Given the description of an element on the screen output the (x, y) to click on. 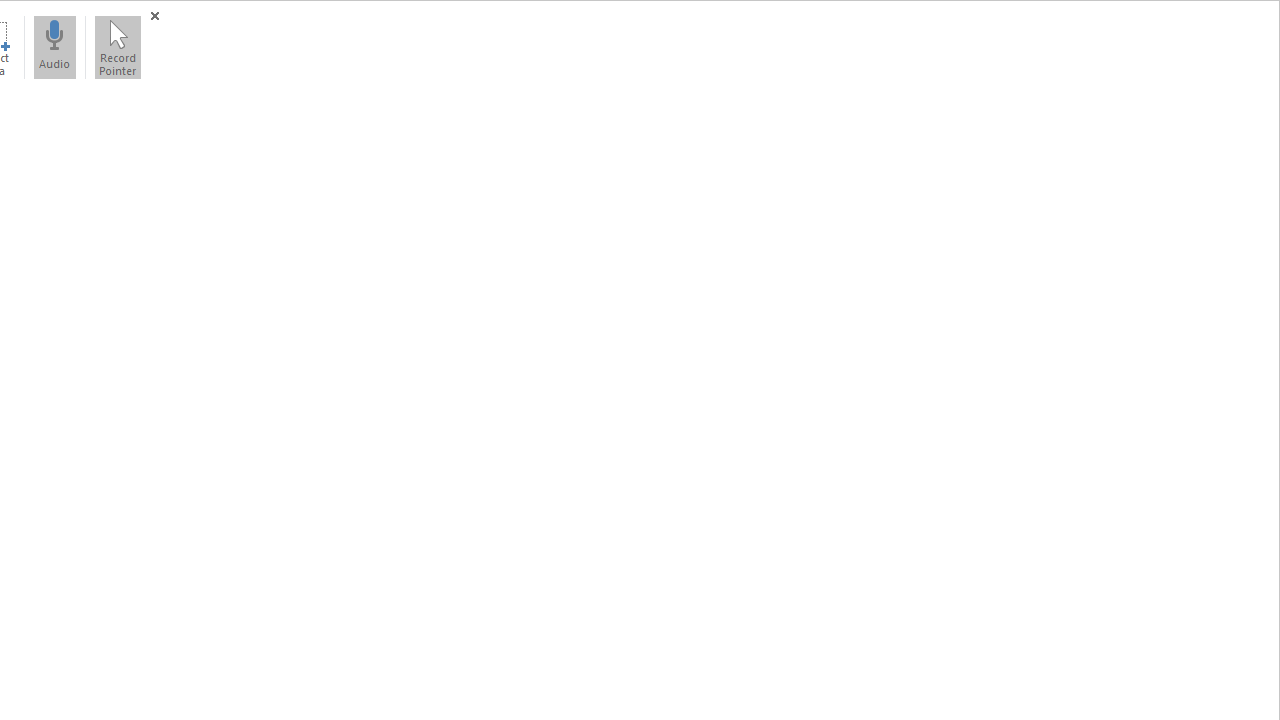
Record Pointer (117, 47)
Close (Windows logo key+Shift+Q) (154, 16)
